Given the description of an element on the screen output the (x, y) to click on. 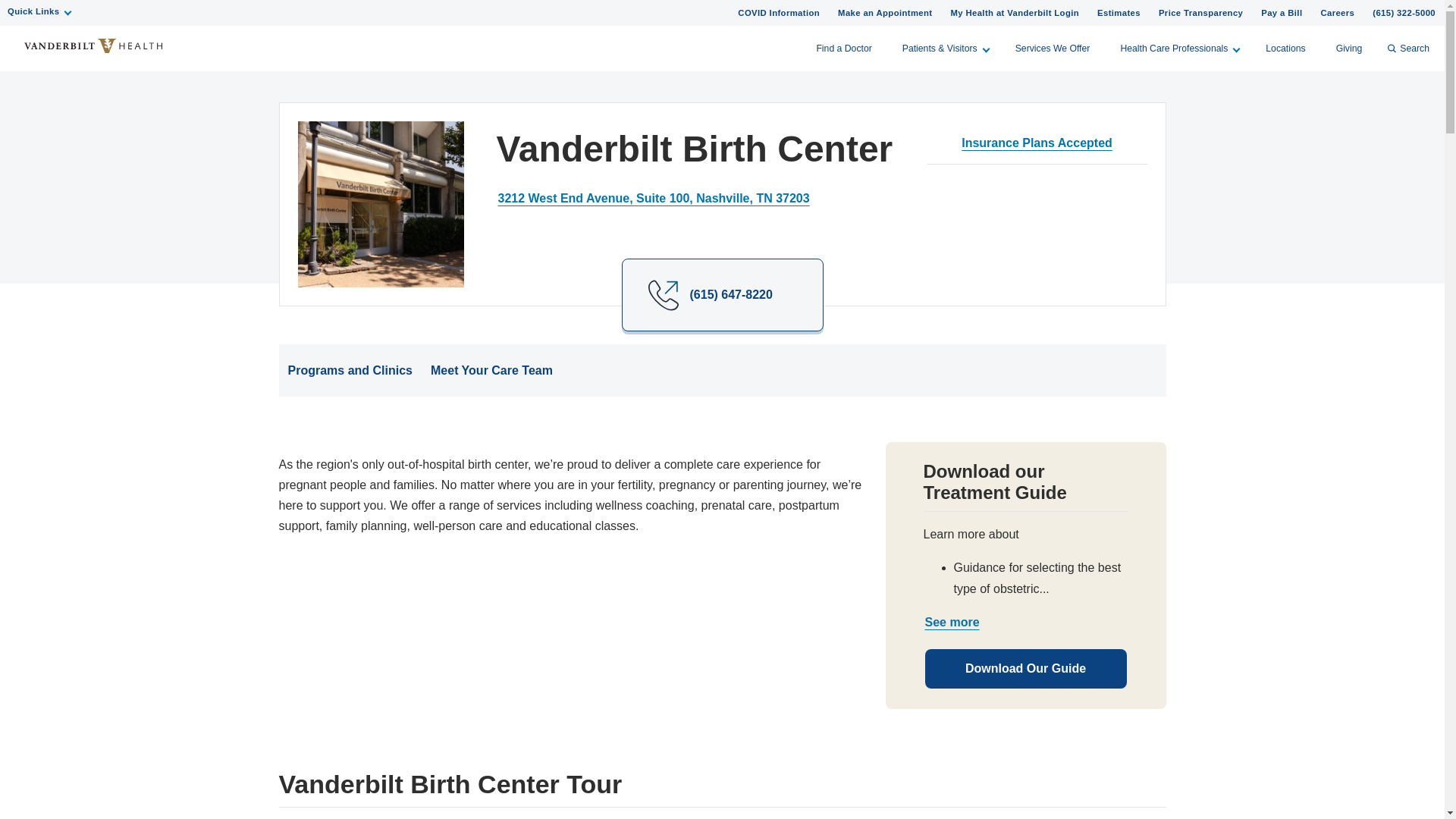
Estimates (1118, 12)
Find a Doctor (843, 48)
Careers (1336, 12)
My Health at Vanderbilt Login (1013, 12)
COVID Information (778, 12)
Price Transparency (1201, 12)
Make an Appointment (884, 12)
Giving (1348, 48)
Health Care Professionals (1177, 48)
Vanderbilt Health (93, 46)
Locations (1285, 48)
Services We Offer (1052, 48)
Pay a Bill (1281, 12)
